Given the description of an element on the screen output the (x, y) to click on. 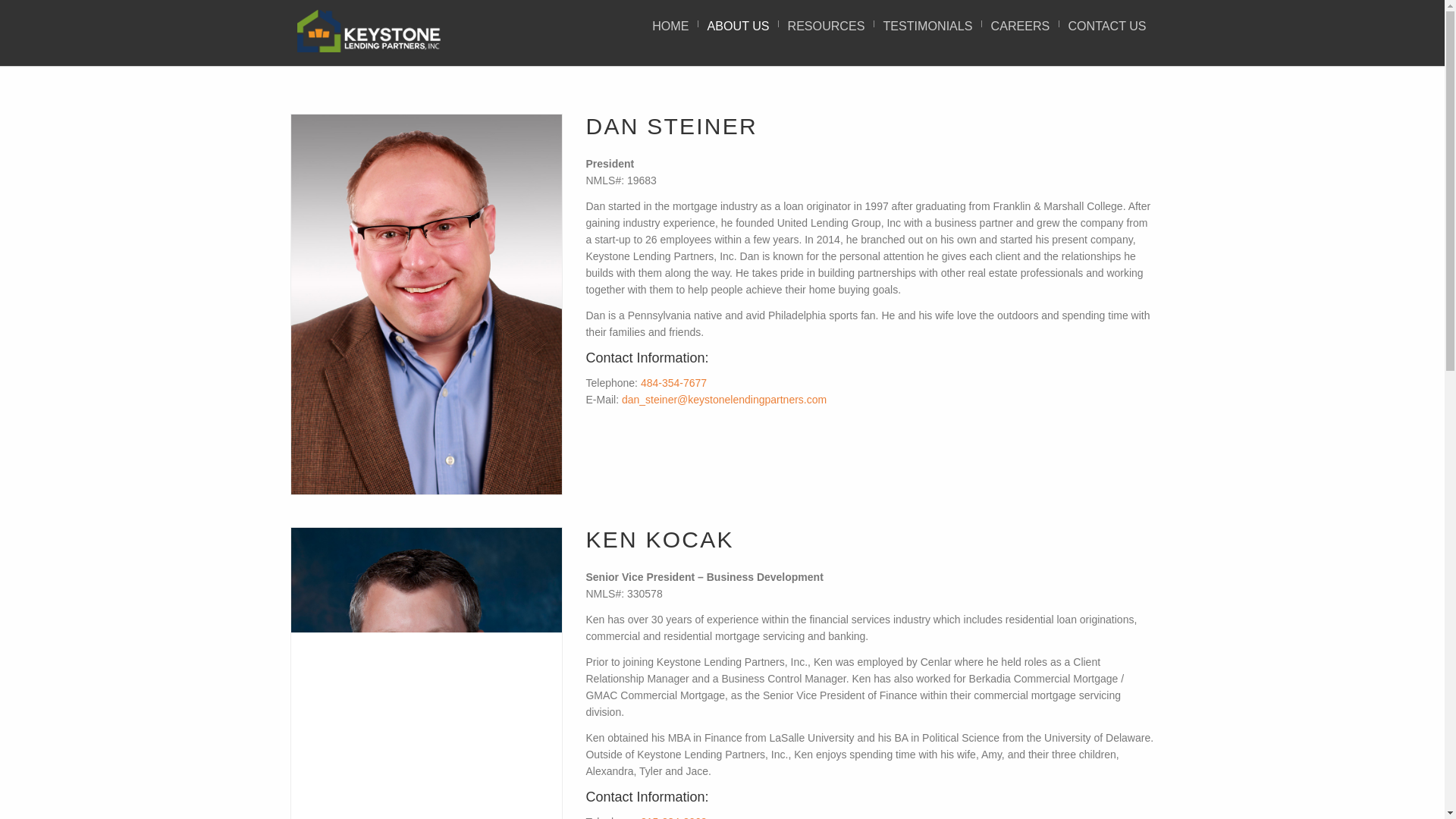
RESOURCES (825, 25)
CAREERS (1020, 25)
ABOUT US (737, 25)
HOME (670, 25)
484-354-7677 (673, 382)
CONTACT US (1106, 25)
215-284-2062 (673, 817)
TESTIMONIALS (927, 25)
